Given the description of an element on the screen output the (x, y) to click on. 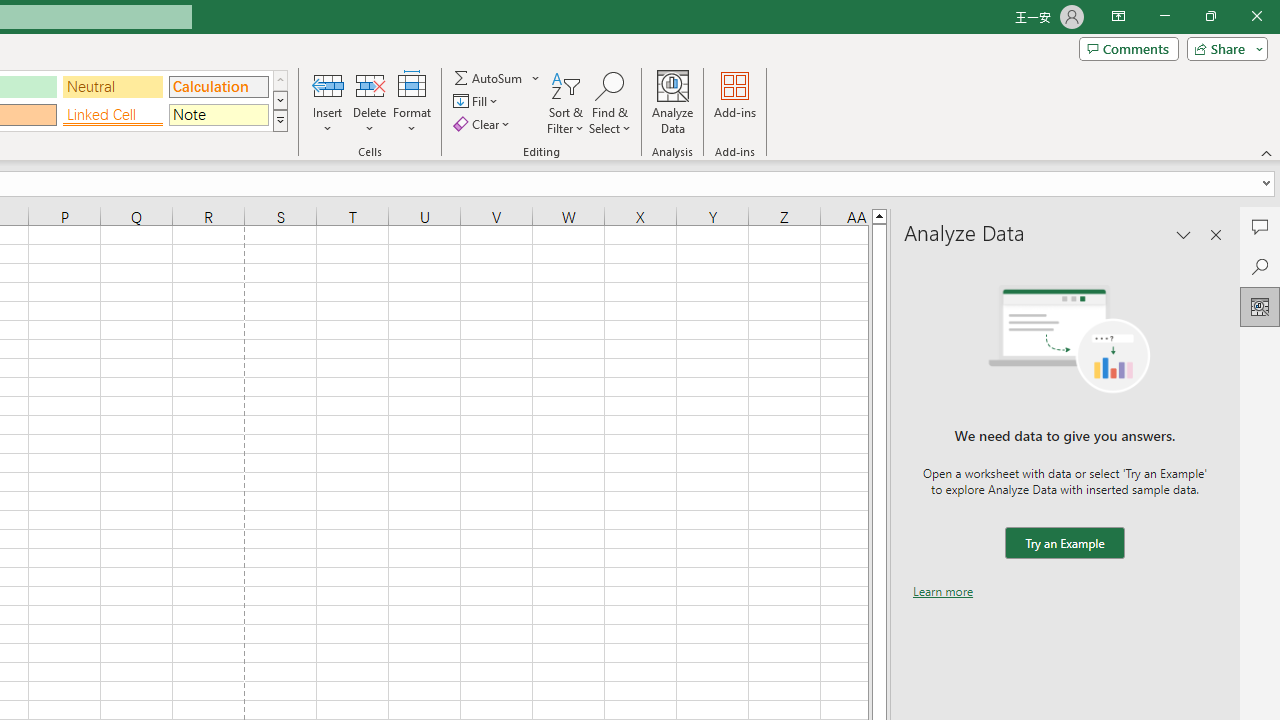
Insert Cells (328, 84)
Fill (477, 101)
Cell Styles (280, 120)
Delete (369, 102)
